Given the description of an element on the screen output the (x, y) to click on. 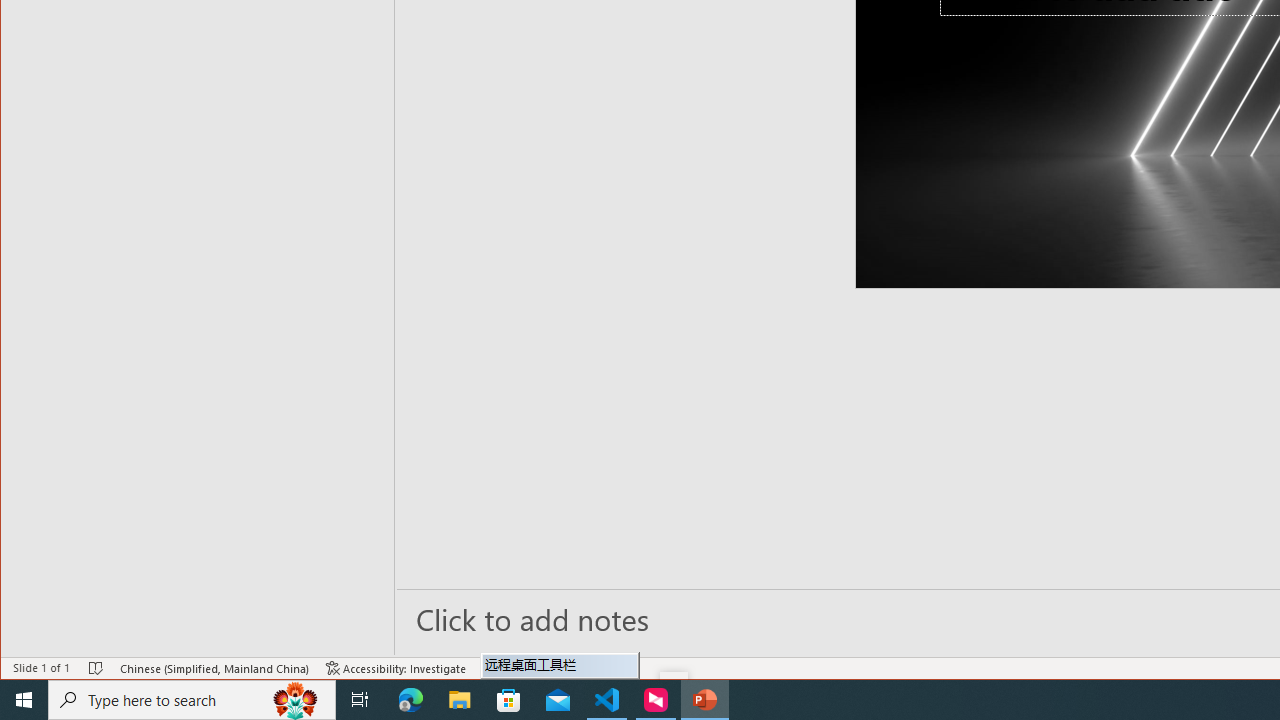
Microsoft Edge (411, 699)
